Given the description of an element on the screen output the (x, y) to click on. 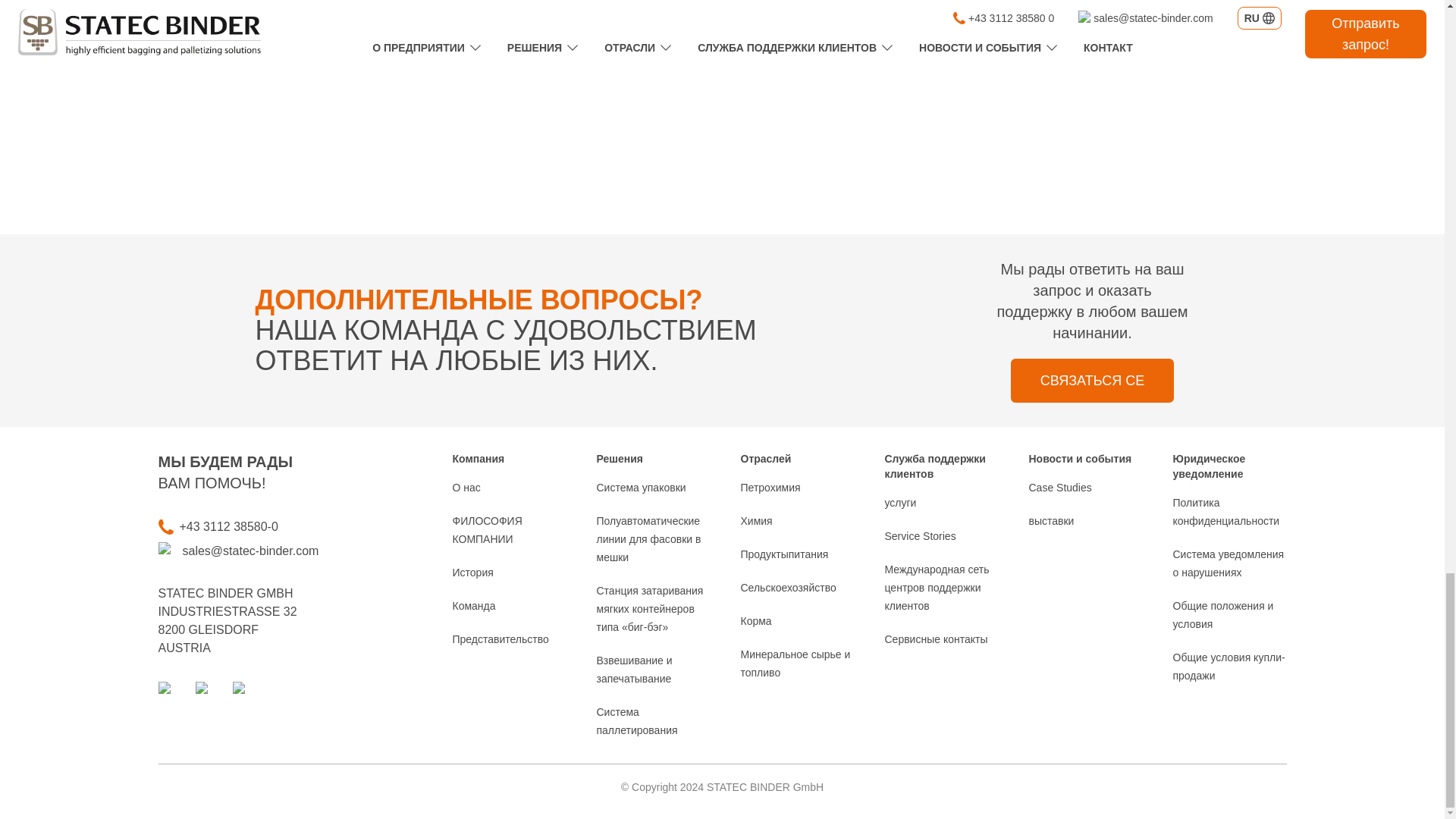
linkedin-logo (171, 691)
Youtube (209, 691)
